Given the description of an element on the screen output the (x, y) to click on. 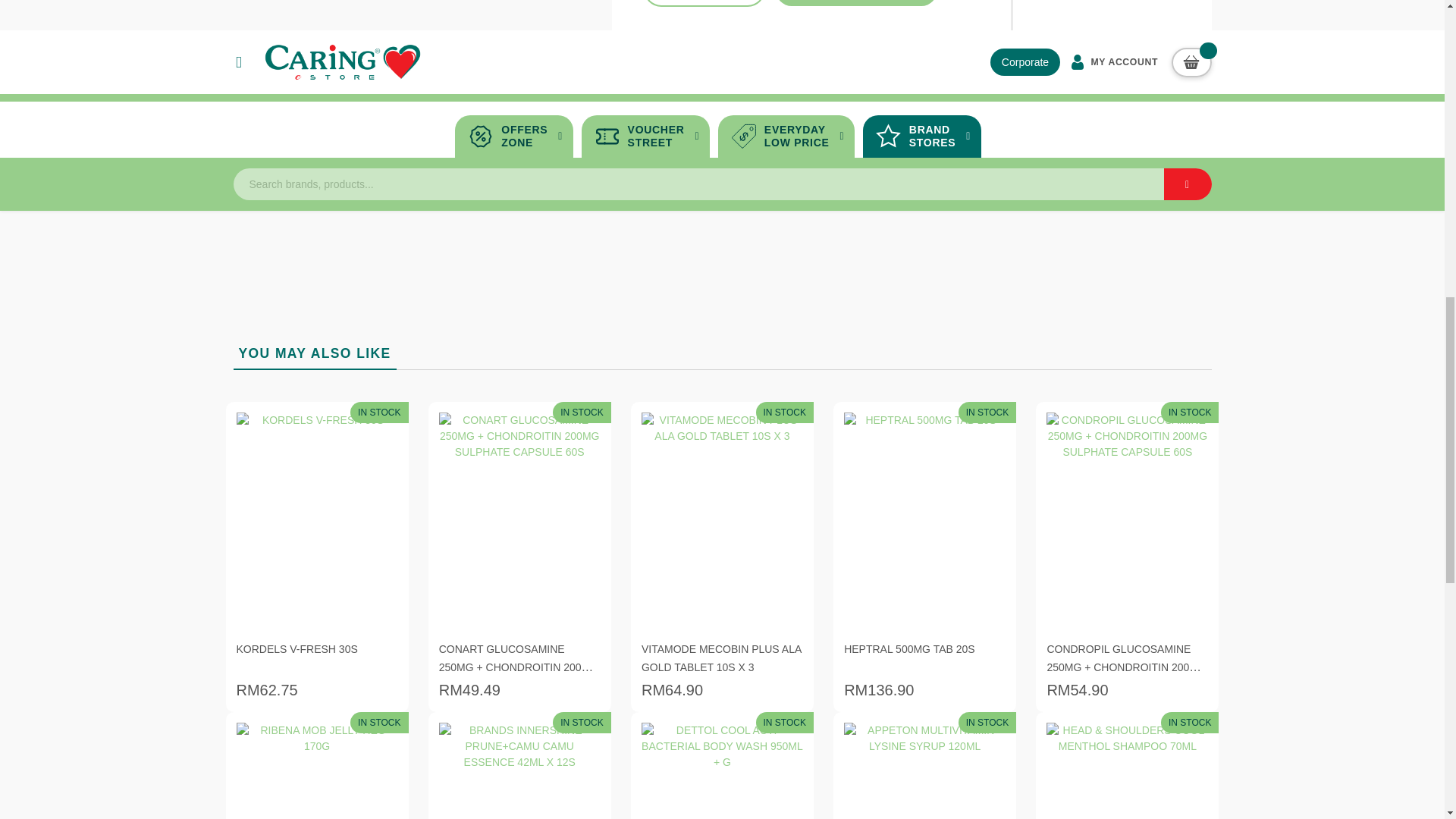
1 (704, 2)
Qty (704, 2)
Add to Basket (856, 2)
